Given the description of an element on the screen output the (x, y) to click on. 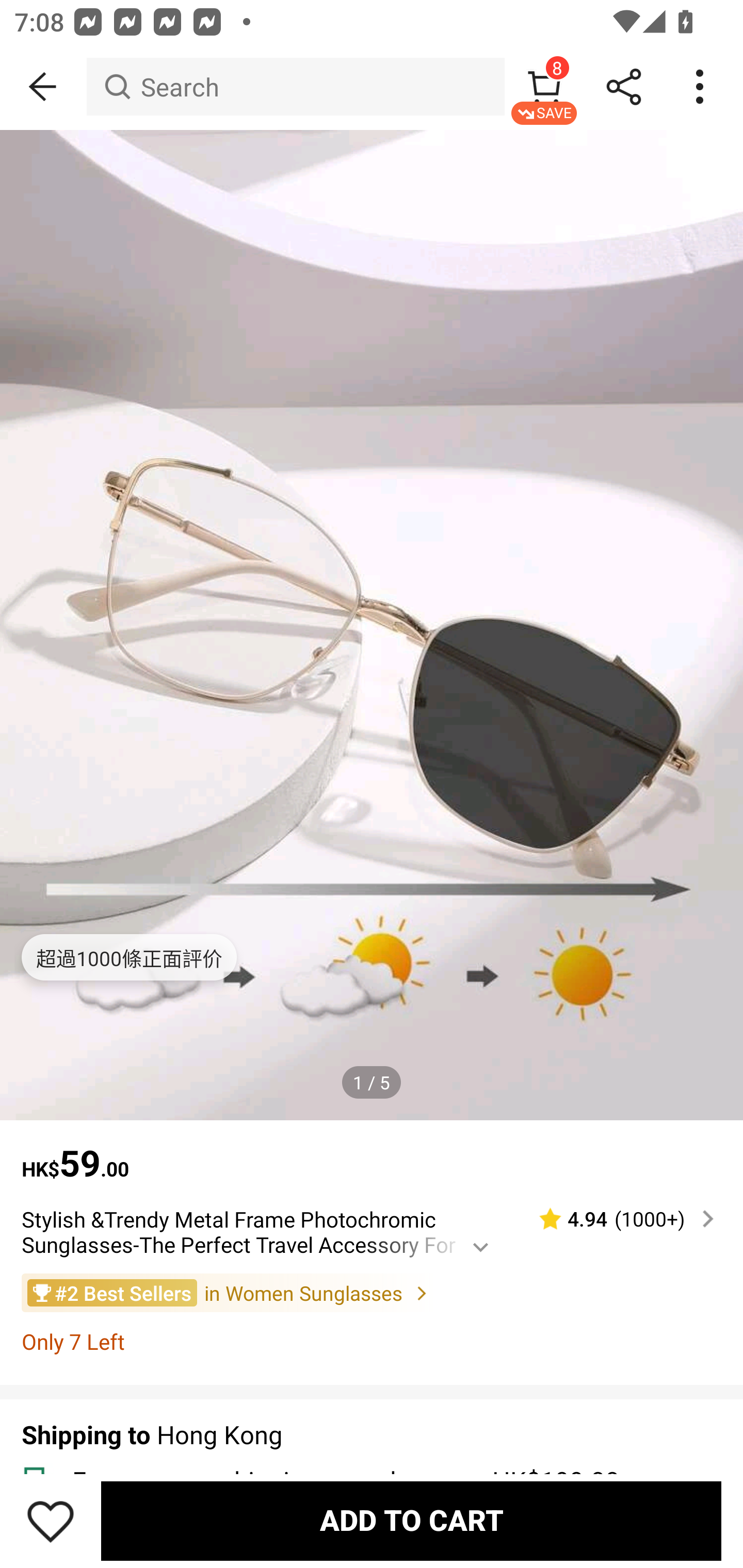
BACK (43, 86)
8 SAVE (543, 87)
Search (295, 87)
1 / 5 (371, 1082)
HK$59.00 (371, 1152)
4.94 (1000‎+) (617, 1219)
#2 Best Sellers in Women Sunglasses (371, 1292)
Only 7 Left (371, 1341)
ADD TO CART (411, 1520)
Save (50, 1520)
